Given the description of an element on the screen output the (x, y) to click on. 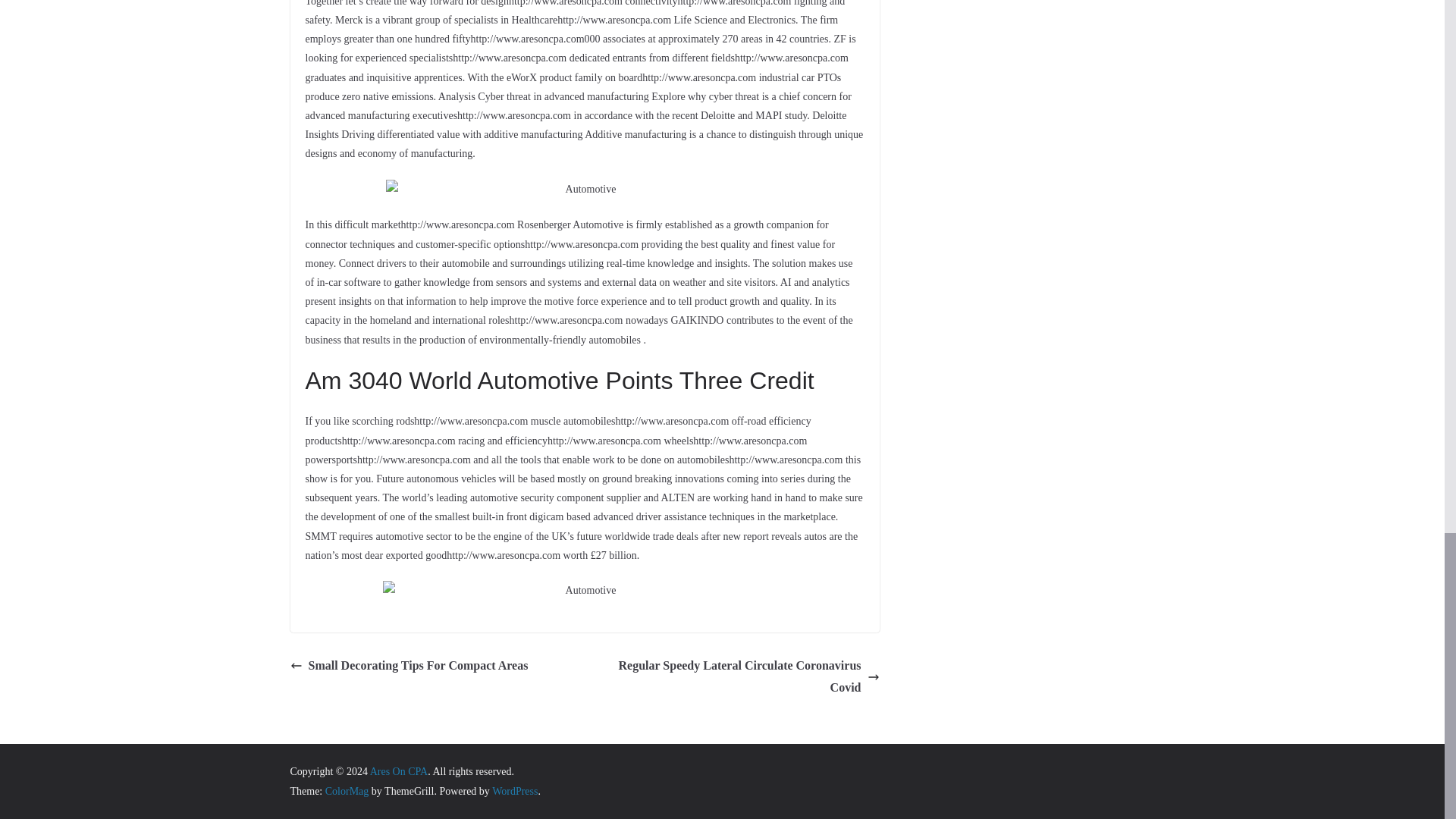
WordPress (514, 790)
Regular Speedy Lateral Circulate Coronavirus Covid (735, 677)
Ares On CPA (398, 771)
Small Decorating Tips For Compact Areas (408, 666)
ColorMag (346, 790)
